Given the description of an element on the screen output the (x, y) to click on. 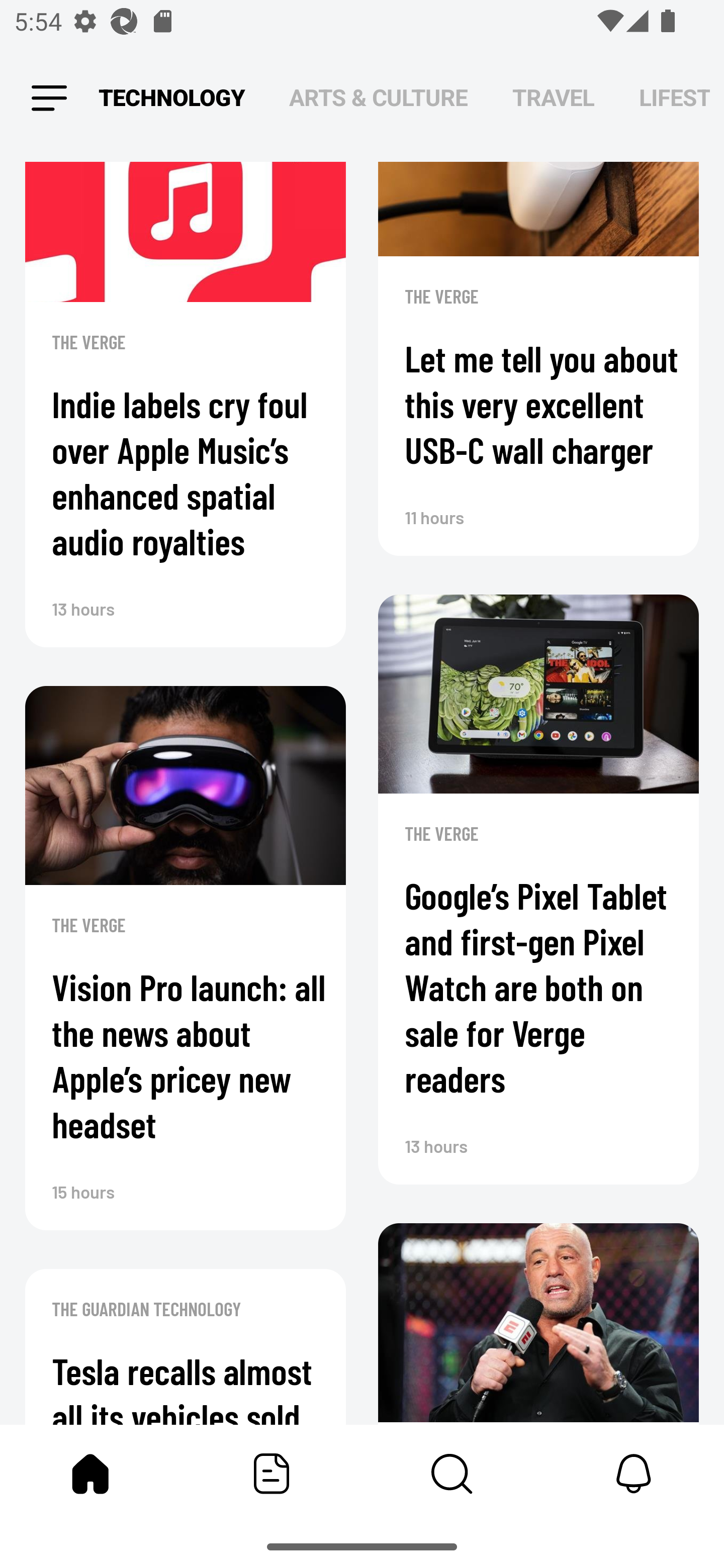
Leading Icon (49, 98)
ARTS & CULTURE (378, 97)
TRAVEL (553, 97)
LIFESTYLE (674, 97)
Featured (271, 1473)
Content Store (452, 1473)
Notifications (633, 1473)
